Given the description of an element on the screen output the (x, y) to click on. 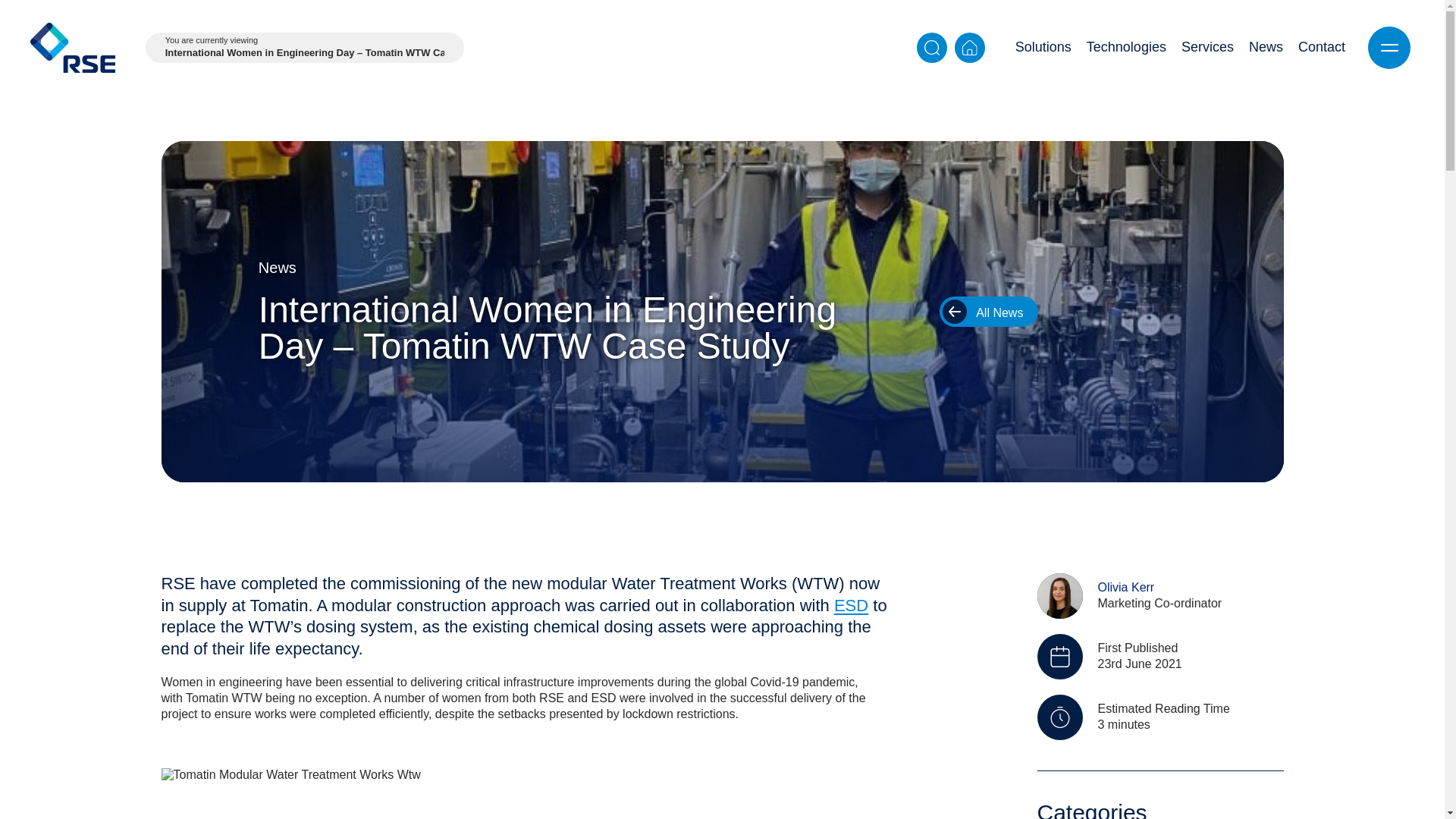
All News (988, 317)
Services (1207, 47)
ESD (850, 605)
Solutions (1042, 47)
Olivia Kerr (1125, 589)
News (1265, 47)
Return to the RSE homepage (970, 47)
Return to the home page (72, 47)
Technologies (1125, 47)
Contact (1321, 47)
